Given the description of an element on the screen output the (x, y) to click on. 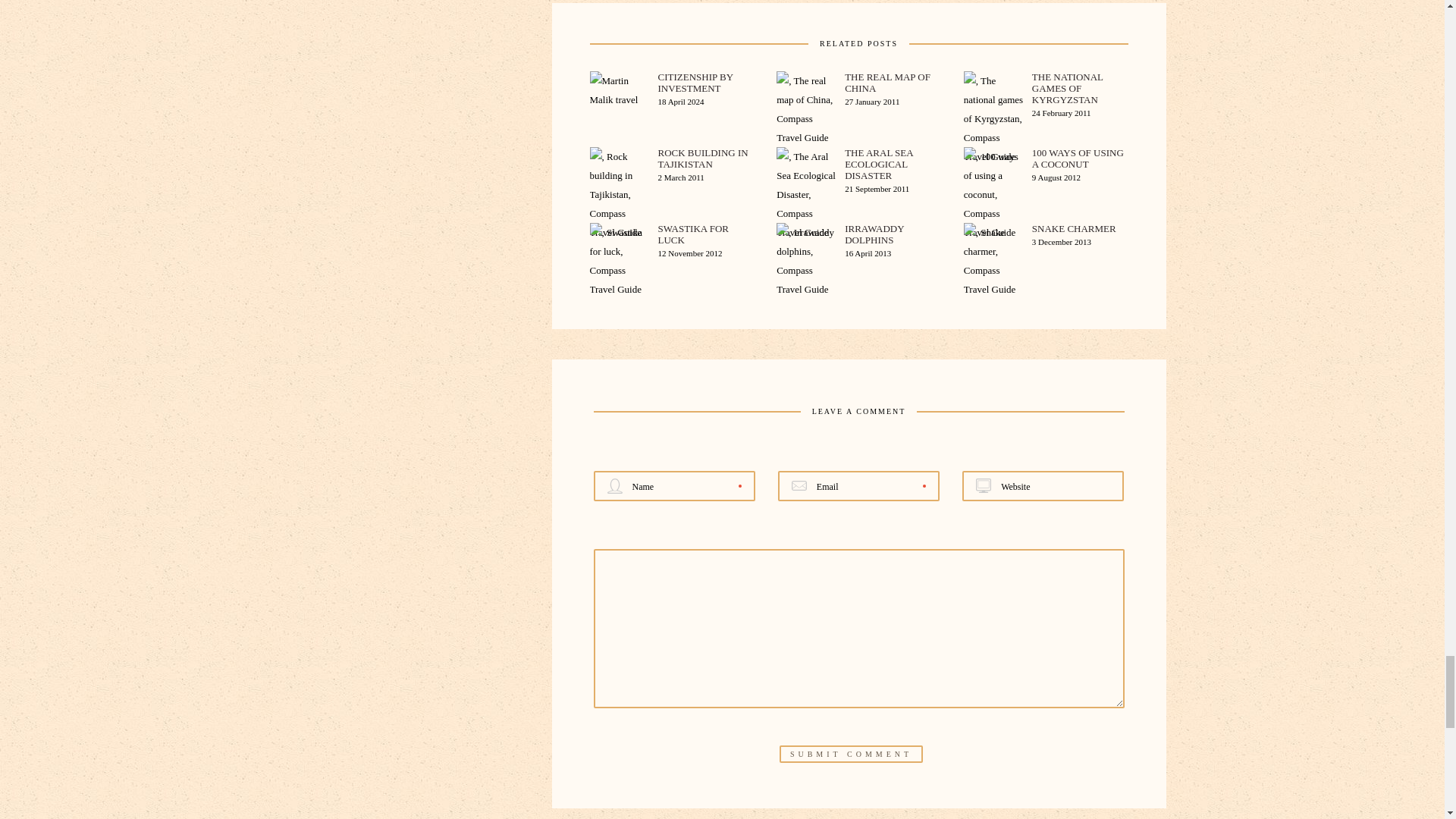
Submit Comment (850, 753)
